Given the description of an element on the screen output the (x, y) to click on. 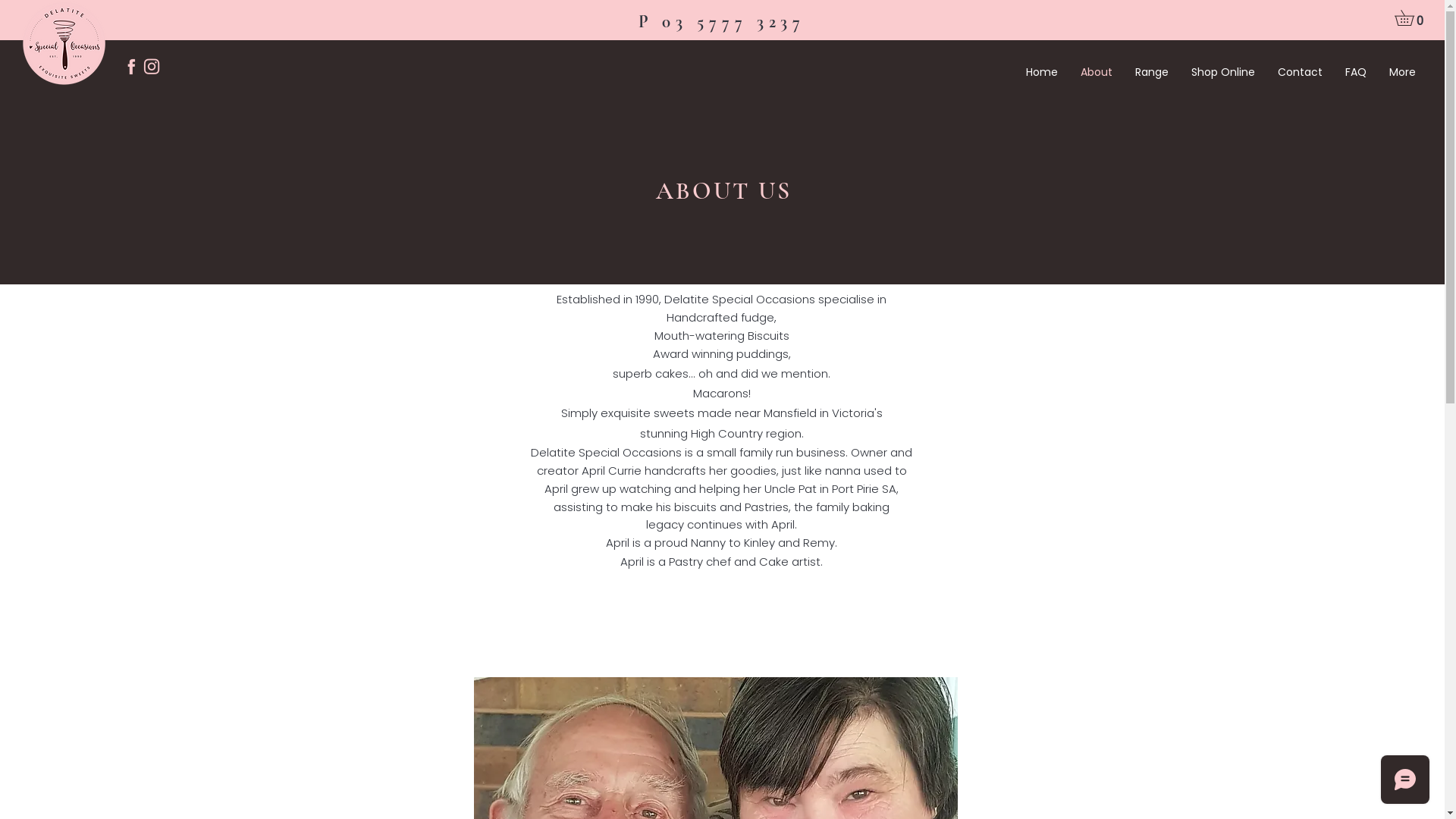
Contact Element type: text (1299, 72)
About Element type: text (1096, 72)
FAQ Element type: text (1355, 72)
Home Element type: text (1041, 72)
Range Element type: text (1151, 72)
Shop Online Element type: text (1222, 72)
0 Element type: text (1411, 17)
P 03 5777 3237 Element type: text (722, 22)
